Given the description of an element on the screen output the (x, y) to click on. 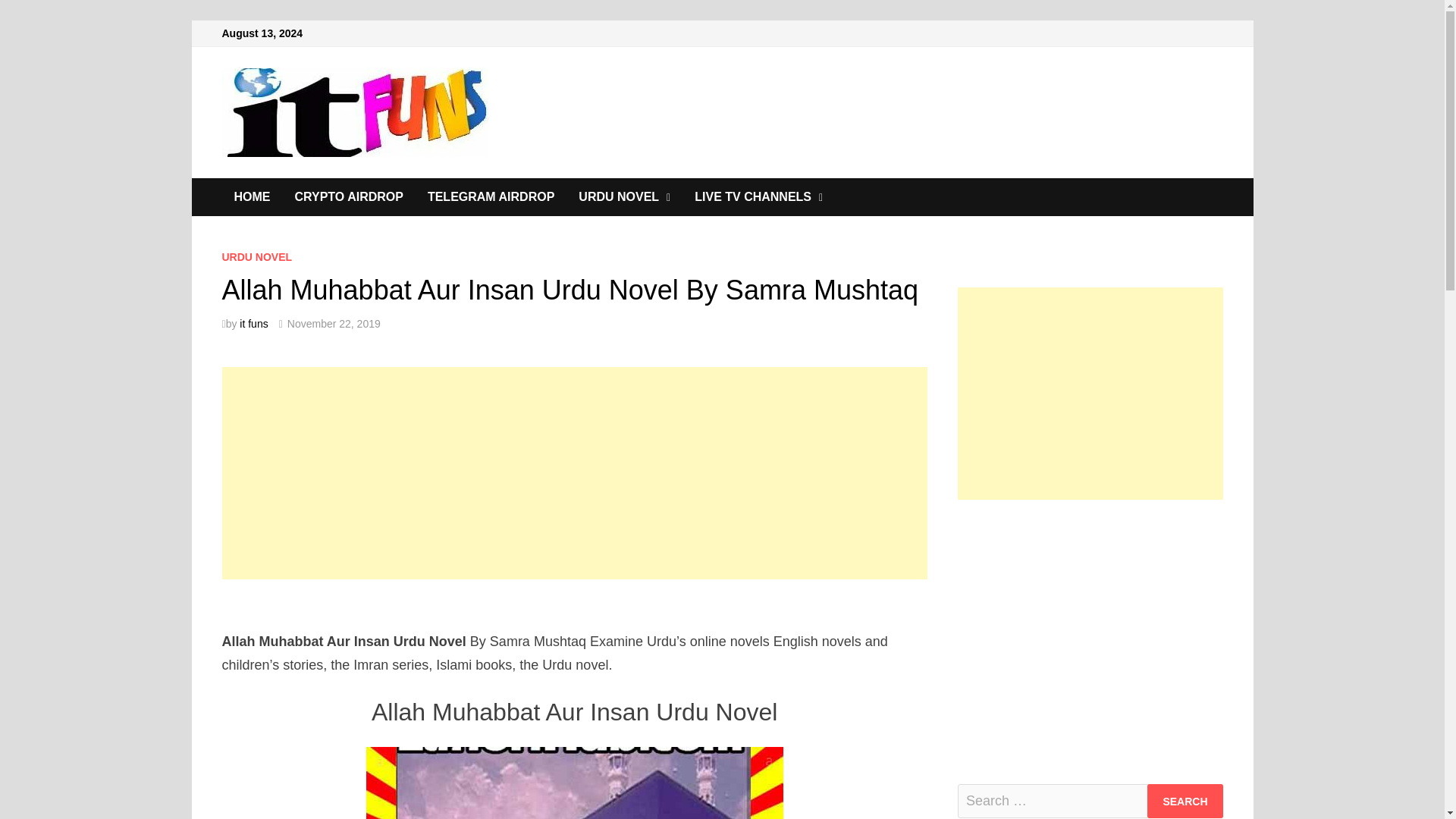
November 22, 2019 (333, 323)
Search (1185, 800)
HOME (251, 197)
URDU NOVEL (624, 197)
Search (1185, 800)
LIVE TV CHANNELS (758, 197)
it funs (253, 323)
TELEGRAM AIRDROP (490, 197)
Advertisement (1090, 626)
Search (1185, 800)
